Given the description of an element on the screen output the (x, y) to click on. 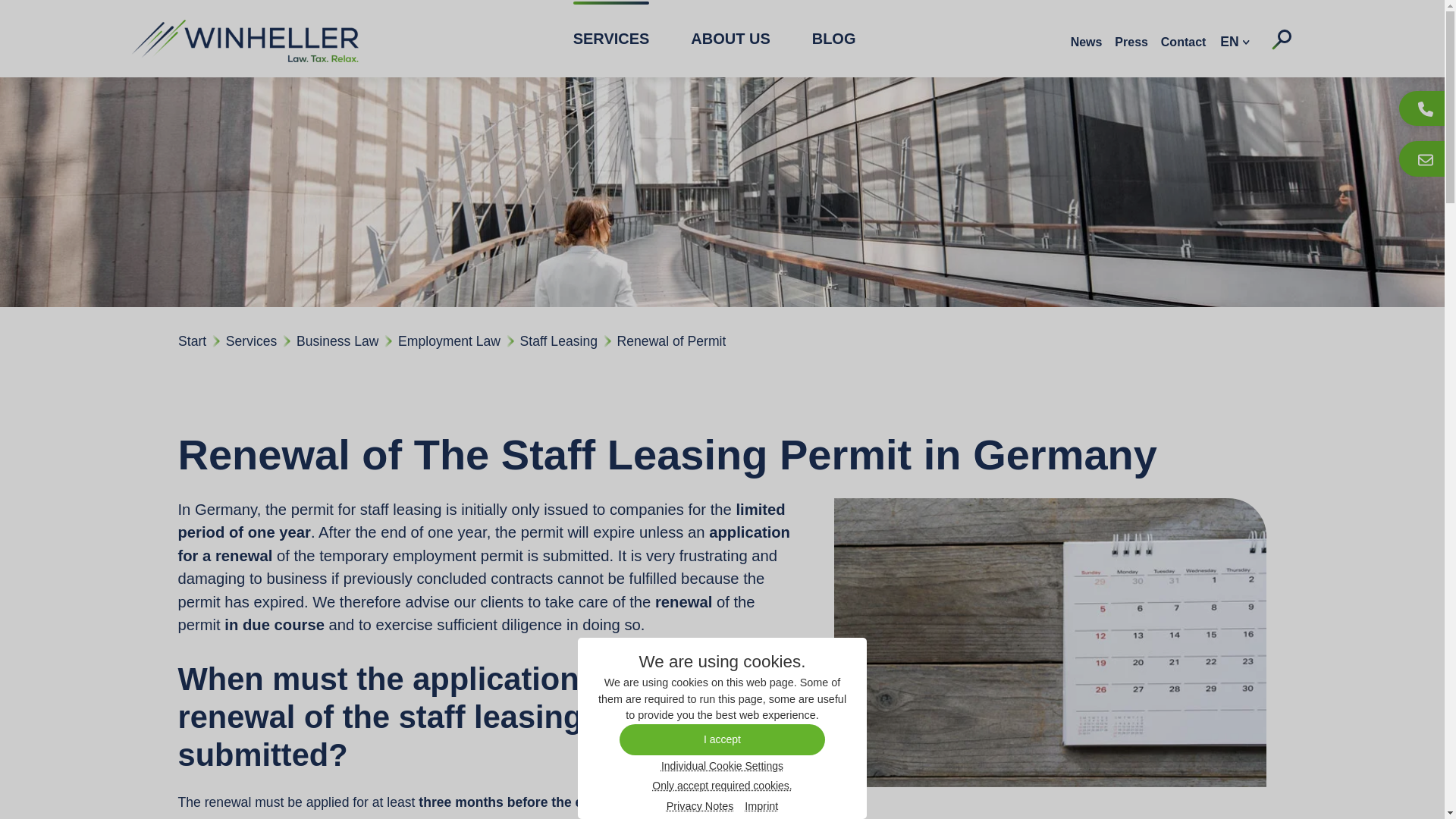
ABOUT US (730, 38)
Our Law and Tax Services in Germany (611, 38)
I accept (722, 739)
Winheller.com (244, 37)
Only accept required cookies. (720, 785)
Privacy Notes (699, 806)
Individual Cookie Settings (722, 765)
Imprint (760, 806)
SERVICES (611, 38)
